Given the description of an element on the screen output the (x, y) to click on. 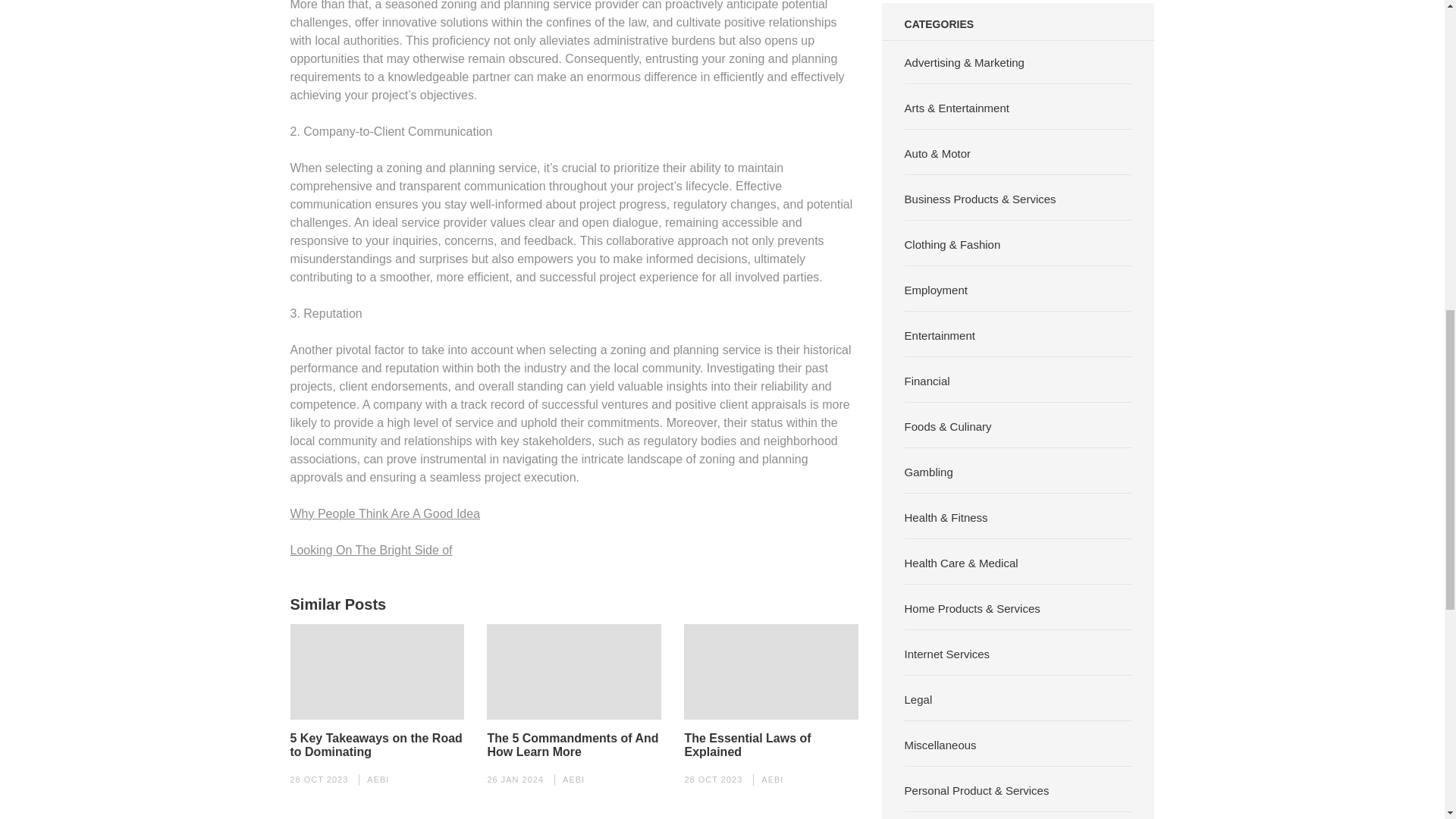
AEBI (377, 778)
28 OCT 2023 (713, 778)
AEBI (573, 778)
Looking On The Bright Side of (370, 549)
5 Key Takeaways on the Road to Dominating (376, 745)
Why People Think Are A Good Idea (384, 512)
The 5 Commandments of And How Learn More (573, 745)
26 JAN 2024 (514, 778)
AEBI (772, 778)
28 OCT 2023 (318, 778)
